Given the description of an element on the screen output the (x, y) to click on. 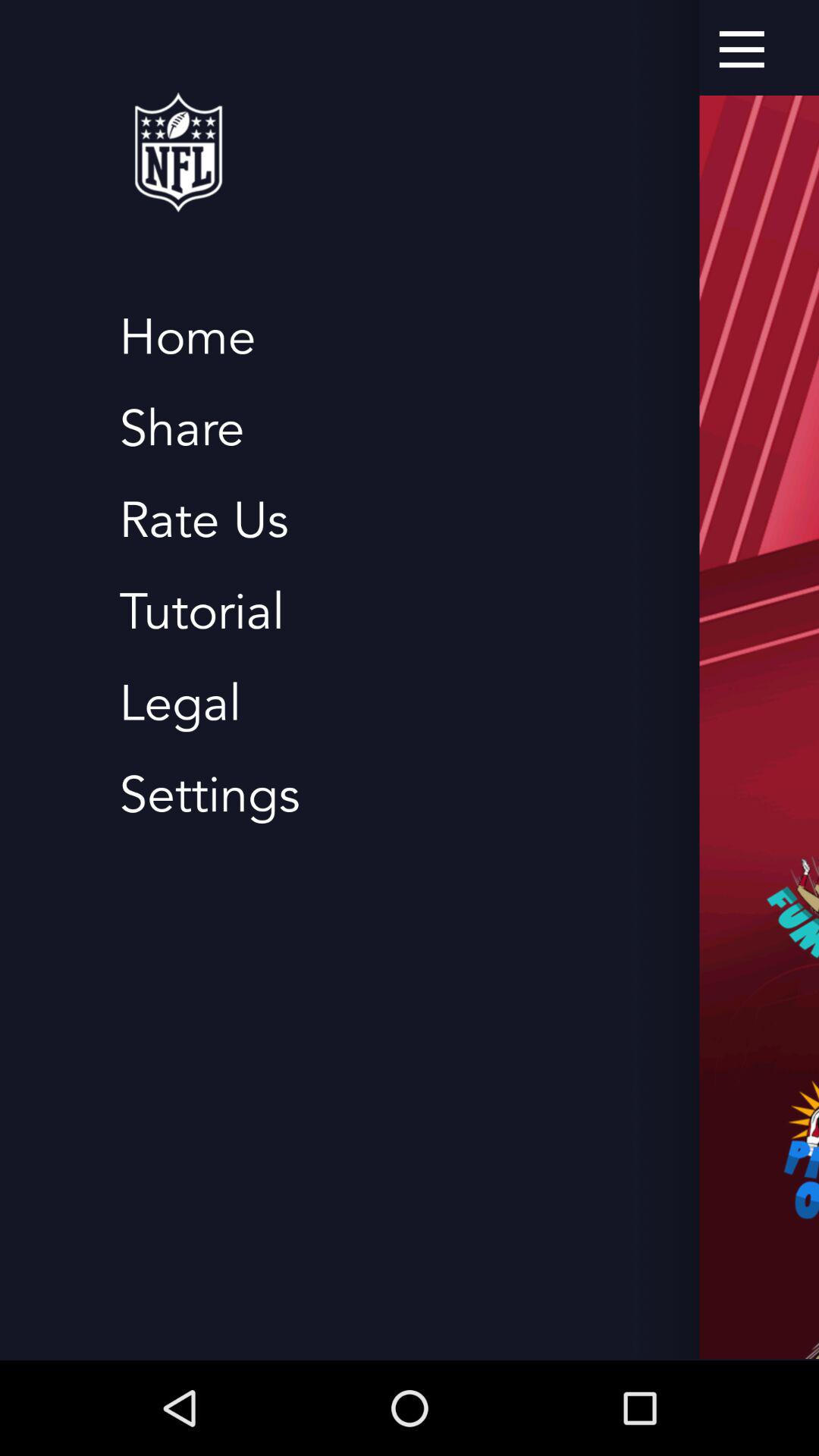
turn on icon above the settings item (180, 703)
